Given the description of an element on the screen output the (x, y) to click on. 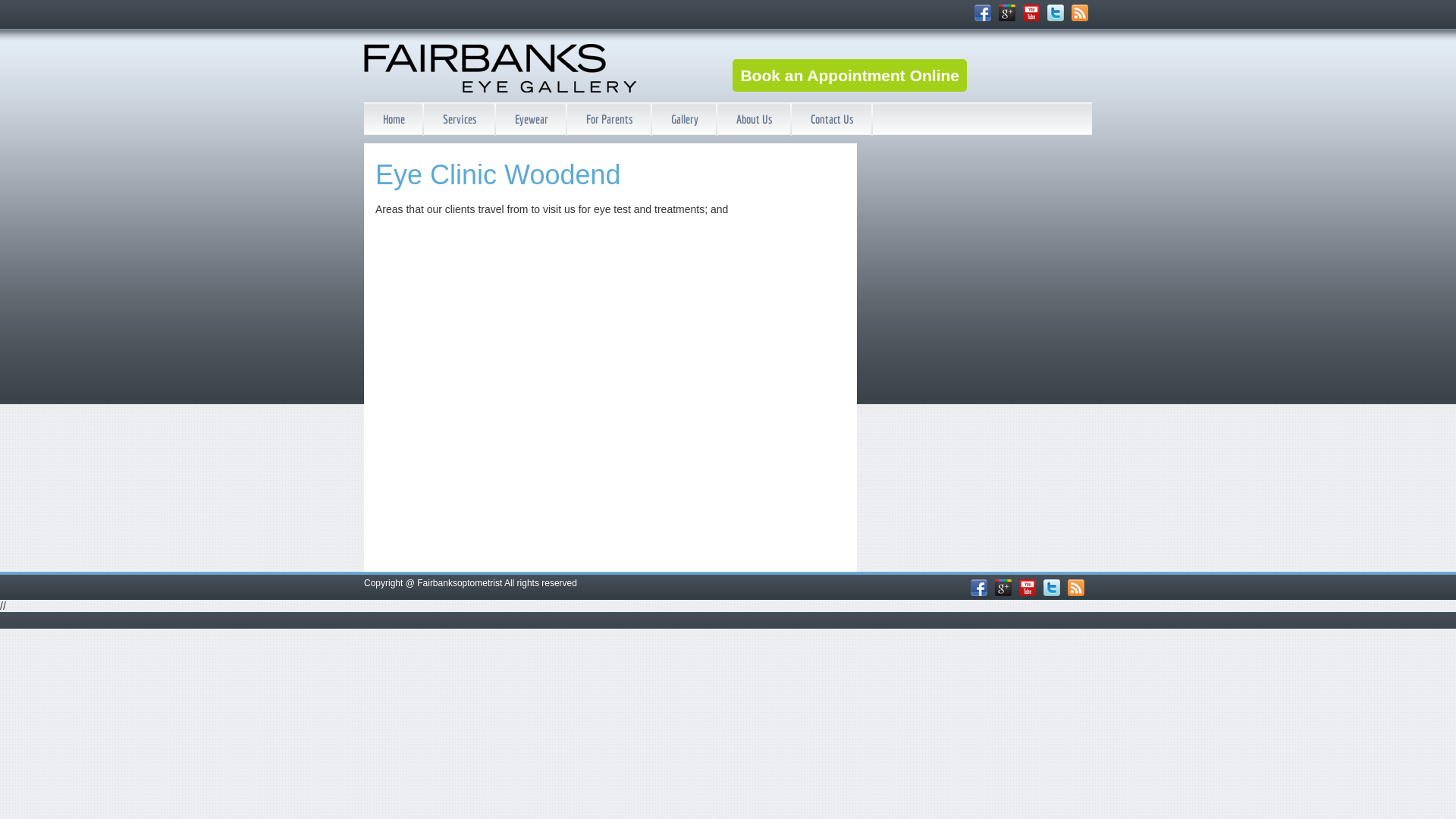
Services Element type: text (459, 118)
About Us Element type: text (754, 118)
Gallery Element type: text (684, 118)
Contact Us Element type: text (831, 118)
For Parents Element type: text (609, 118)
Home Element type: text (393, 118)
Fairbanks Optometrist Element type: hover (500, 80)
Eyewear Element type: text (531, 118)
